Given the description of an element on the screen output the (x, y) to click on. 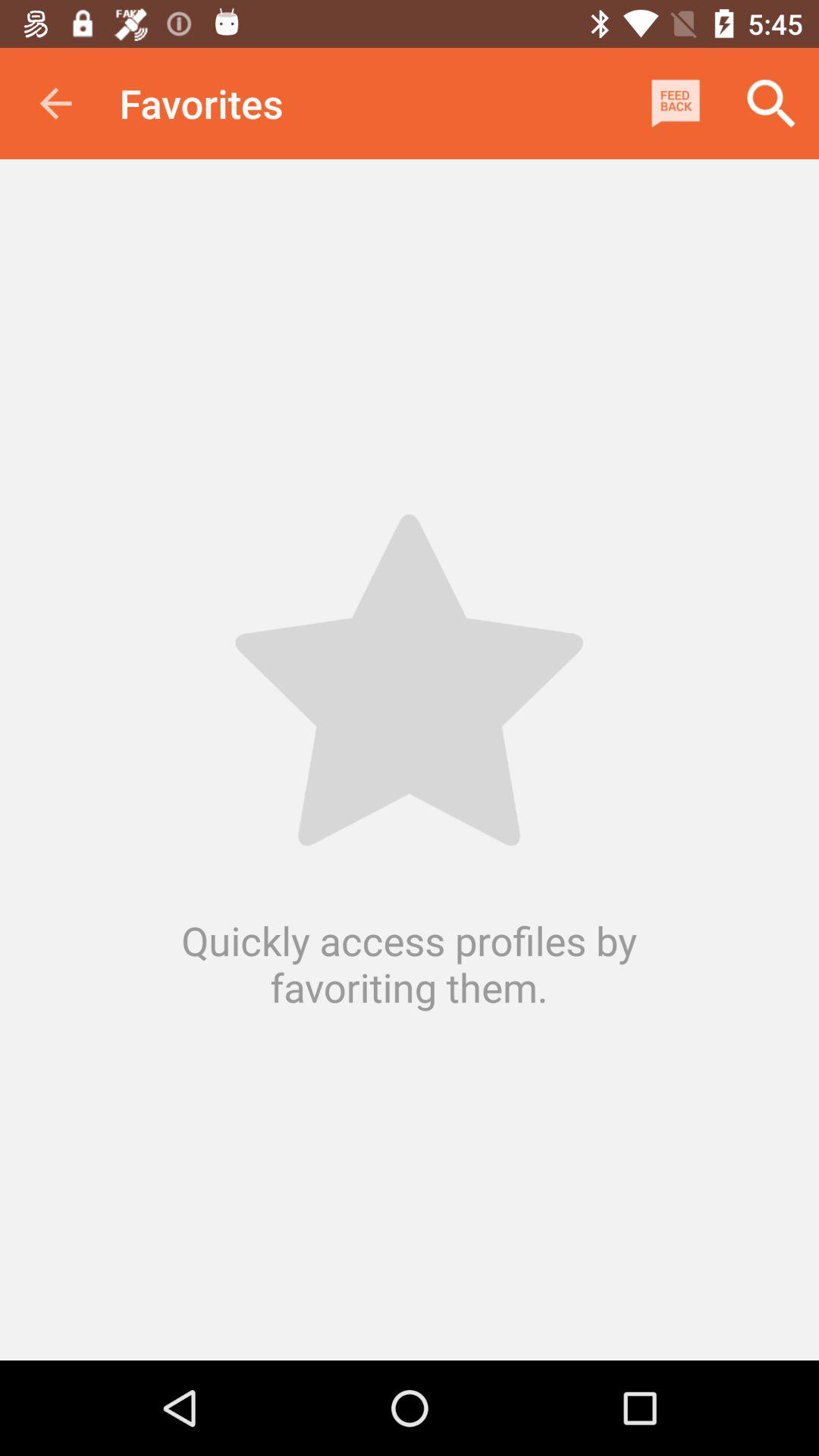
select icon to the right of favorites (675, 103)
